Given the description of an element on the screen output the (x, y) to click on. 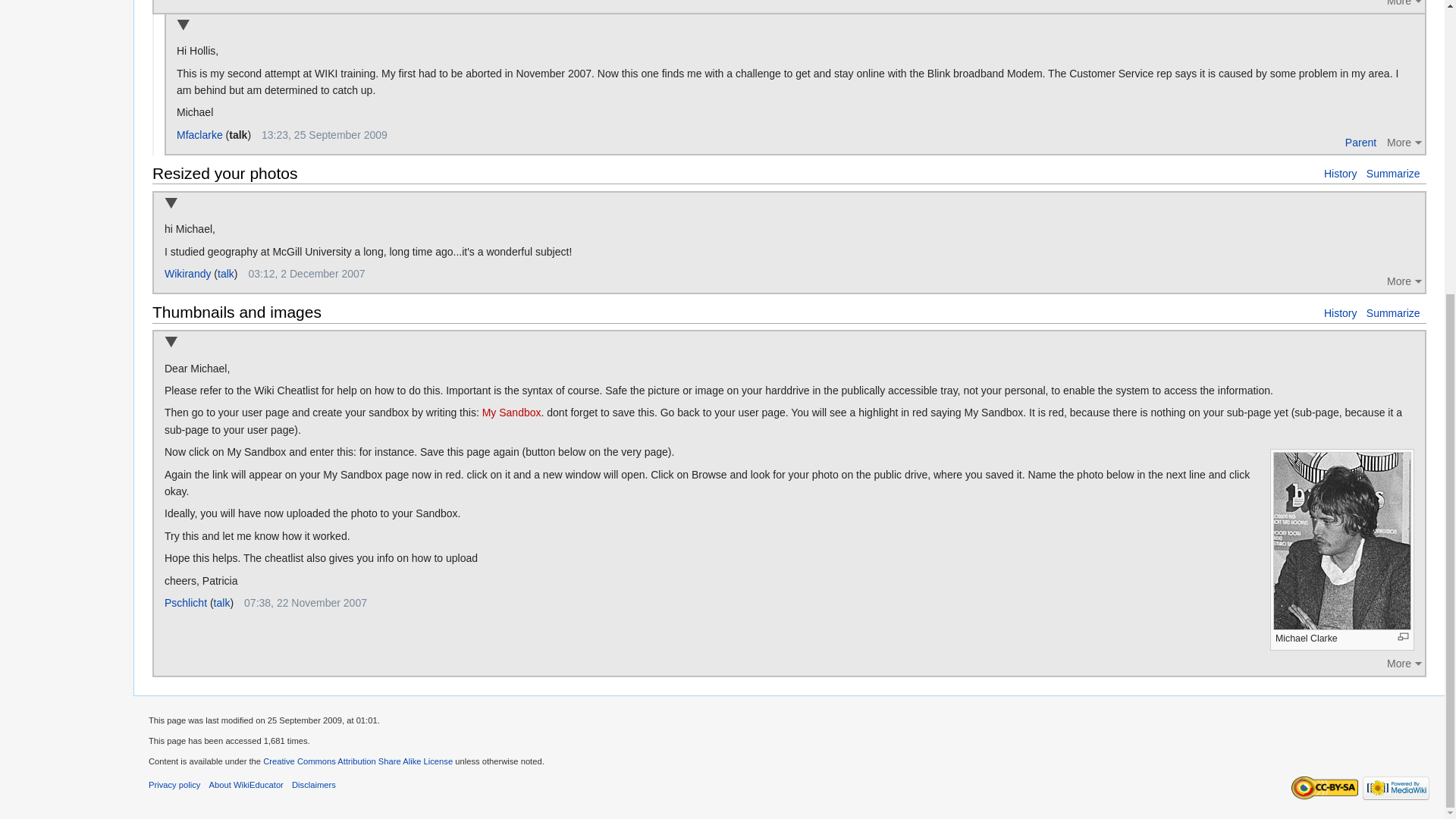
Mfaclarke (199, 134)
Parent (1360, 142)
More (1406, 281)
More (1406, 5)
Collapse (182, 25)
talk (225, 273)
Collapse (170, 204)
Summarize (1394, 173)
User:Mfaclarke (199, 134)
History (1339, 173)
